Given the description of an element on the screen output the (x, y) to click on. 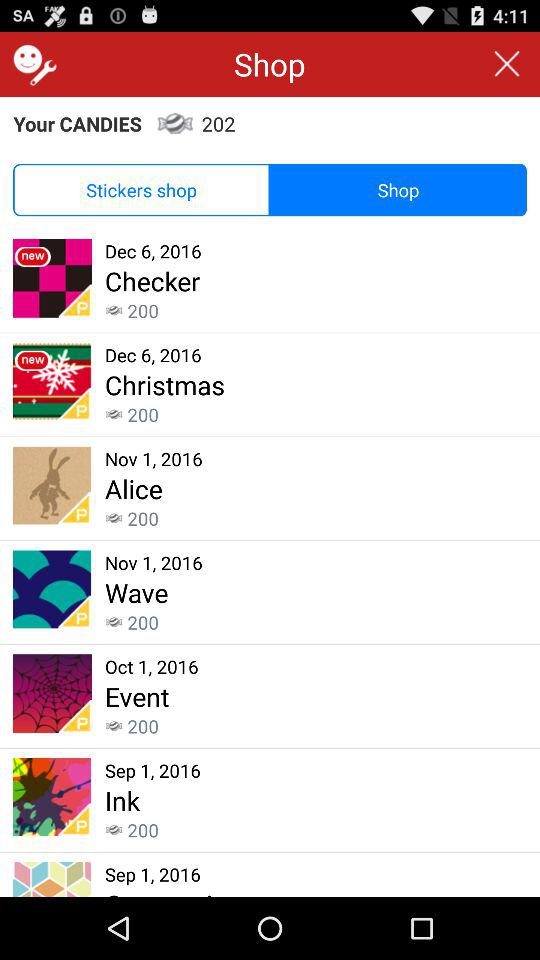
profile editing (32, 64)
